Given the description of an element on the screen output the (x, y) to click on. 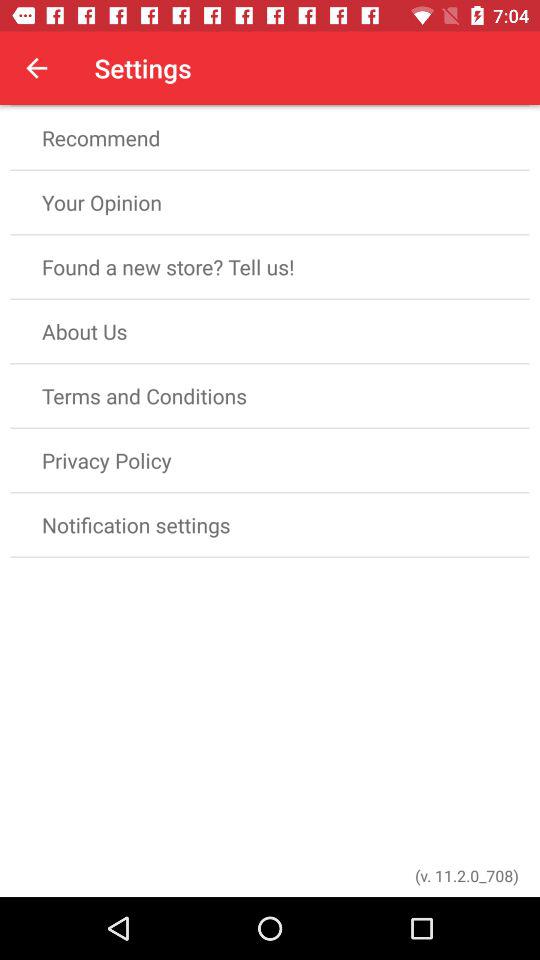
jump until the terms and conditions item (269, 395)
